Given the description of an element on the screen output the (x, y) to click on. 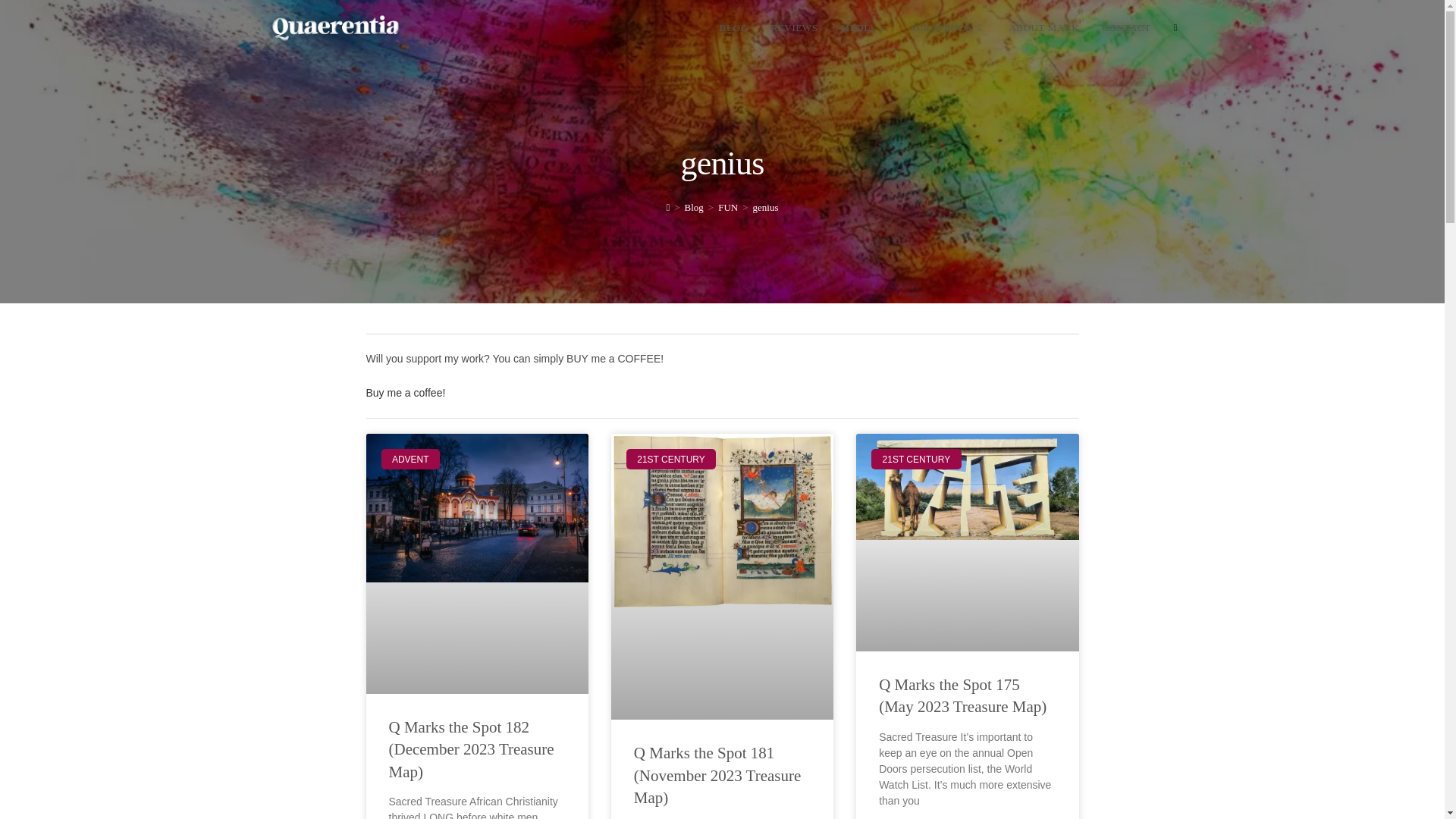
MEDIA (864, 28)
Blog (693, 206)
Buy me a coffee! (405, 392)
ABOUT MARK (1043, 28)
REVIEWS (794, 28)
genius (765, 206)
SCRAPBOOK (948, 28)
BLOG (733, 28)
CONTACT (1125, 28)
FUN (727, 206)
